Given the description of an element on the screen output the (x, y) to click on. 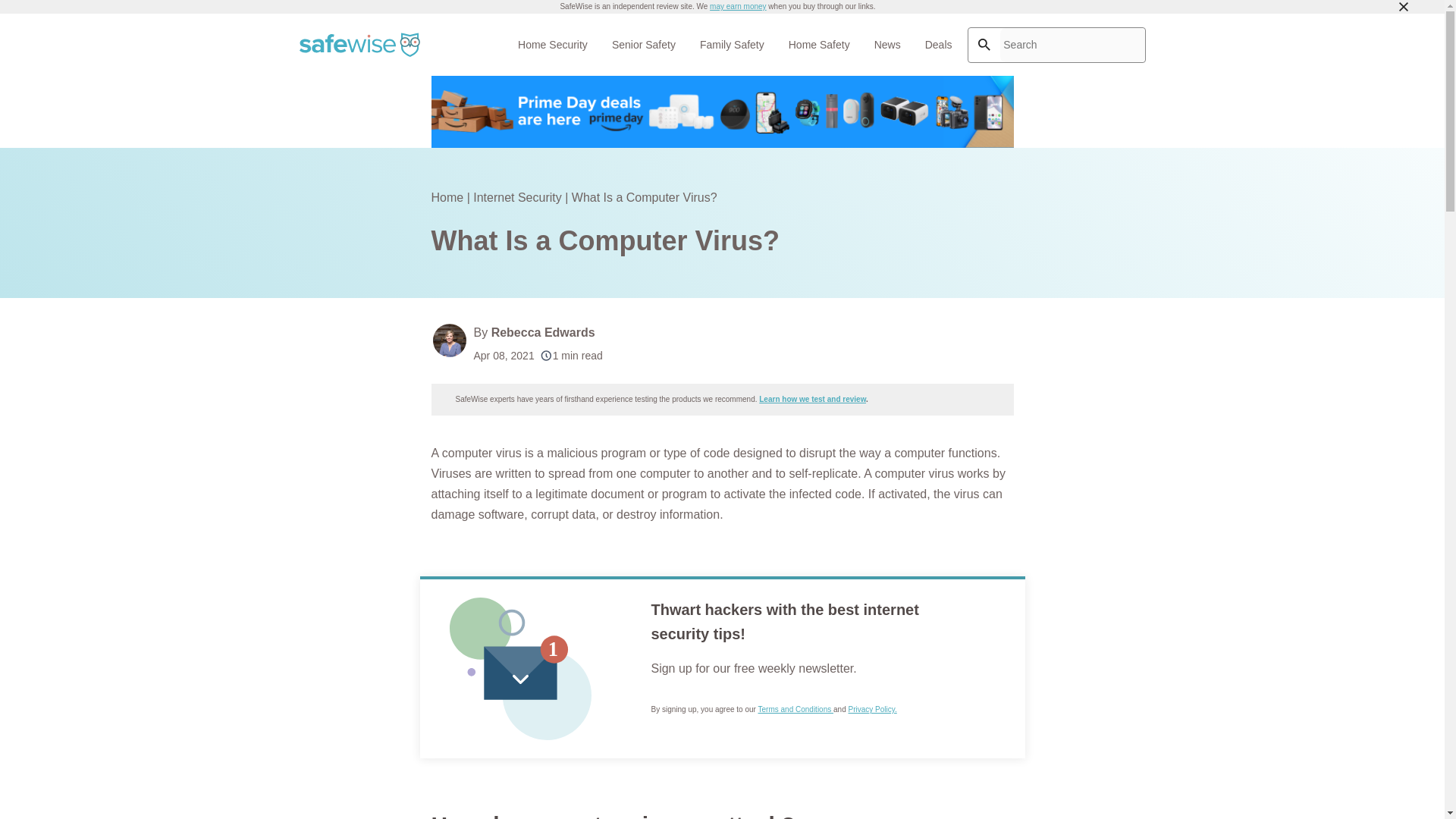
Home Security (552, 44)
Senior Safety (643, 44)
may earn money (737, 6)
